Given the description of an element on the screen output the (x, y) to click on. 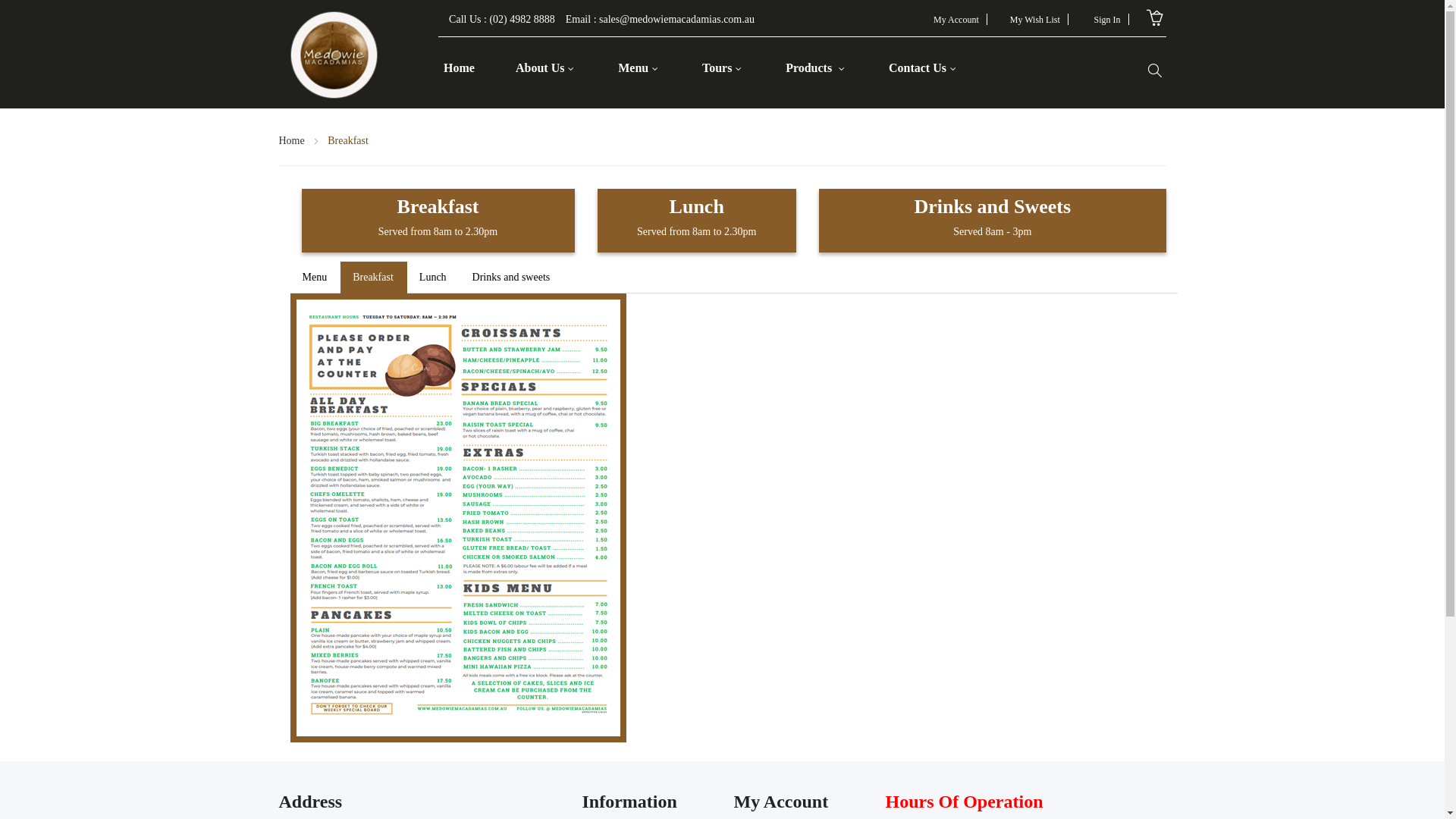
Drinks and sweets Element type: text (511, 277)
Products Element type: text (815, 67)
Menu Element type: text (313, 277)
Home Element type: text (459, 67)
My Wish List Element type: text (1035, 19)
Sign In Element type: text (1106, 19)
Home Element type: text (293, 140)
About Us Element type: text (544, 67)
Lunch Element type: text (432, 277)
My Account Element type: text (956, 19)
Contact Us Element type: text (922, 67)
Breakfast Element type: text (372, 277)
Tours Element type: text (721, 67)
Menu Element type: text (637, 67)
Medowie Macadamias Element type: hover (334, 53)
